Given the description of an element on the screen output the (x, y) to click on. 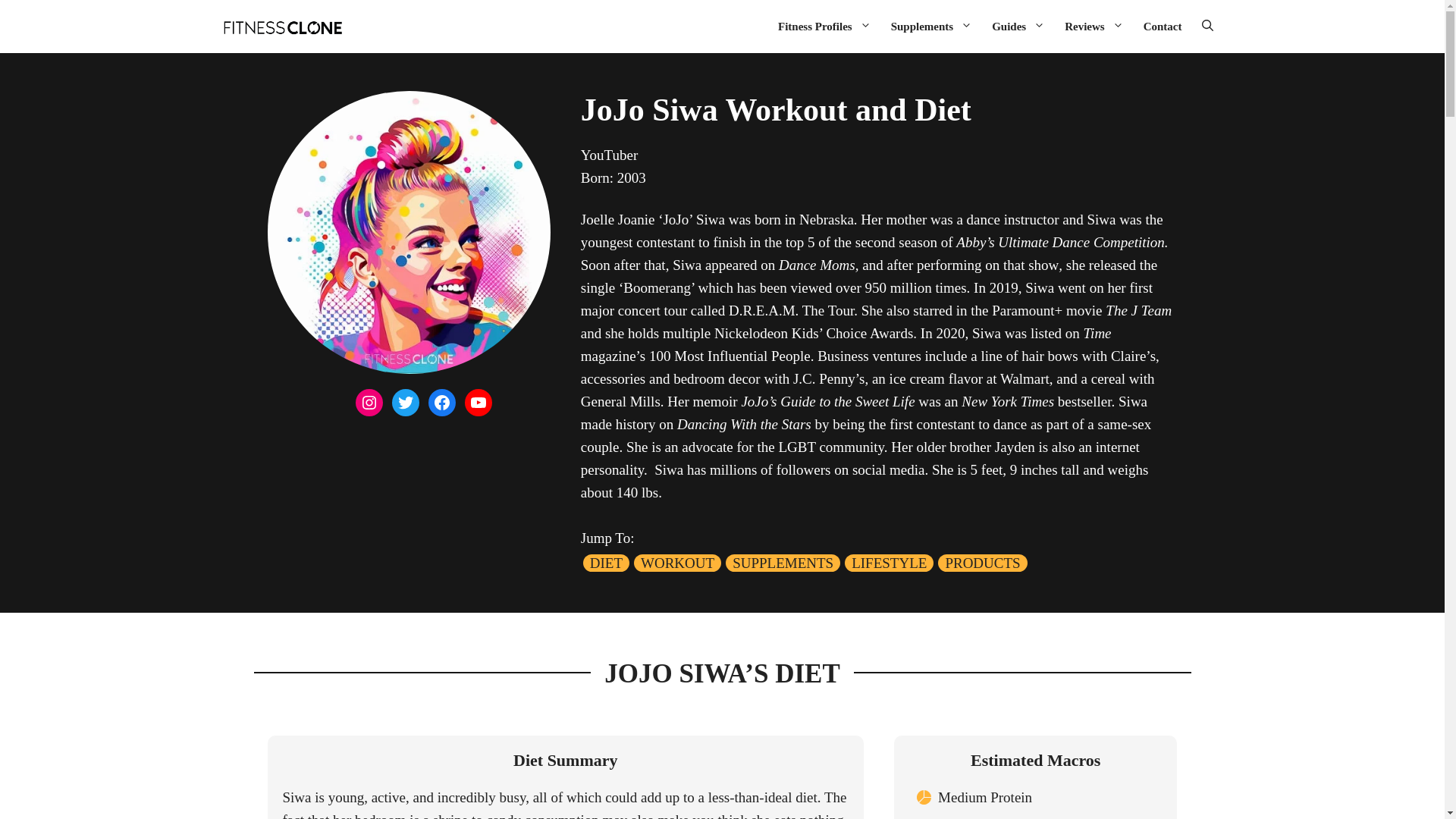
Guides (1017, 25)
Supplements (931, 25)
Fitness Profiles (824, 25)
Reviews (1094, 25)
jojo siwa (408, 231)
